Given the description of an element on the screen output the (x, y) to click on. 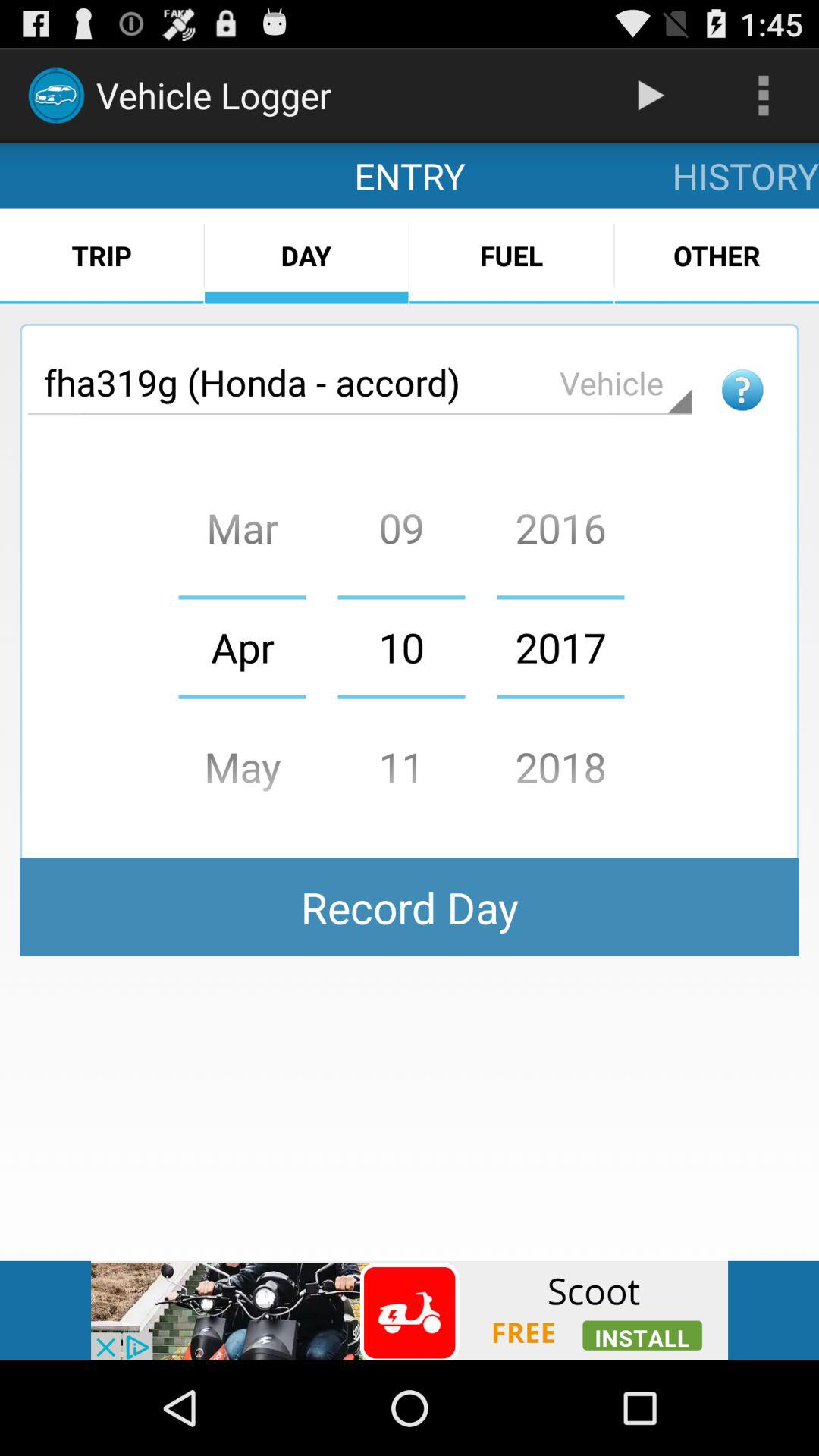
scoot advertisement (409, 1310)
